Given the description of an element on the screen output the (x, y) to click on. 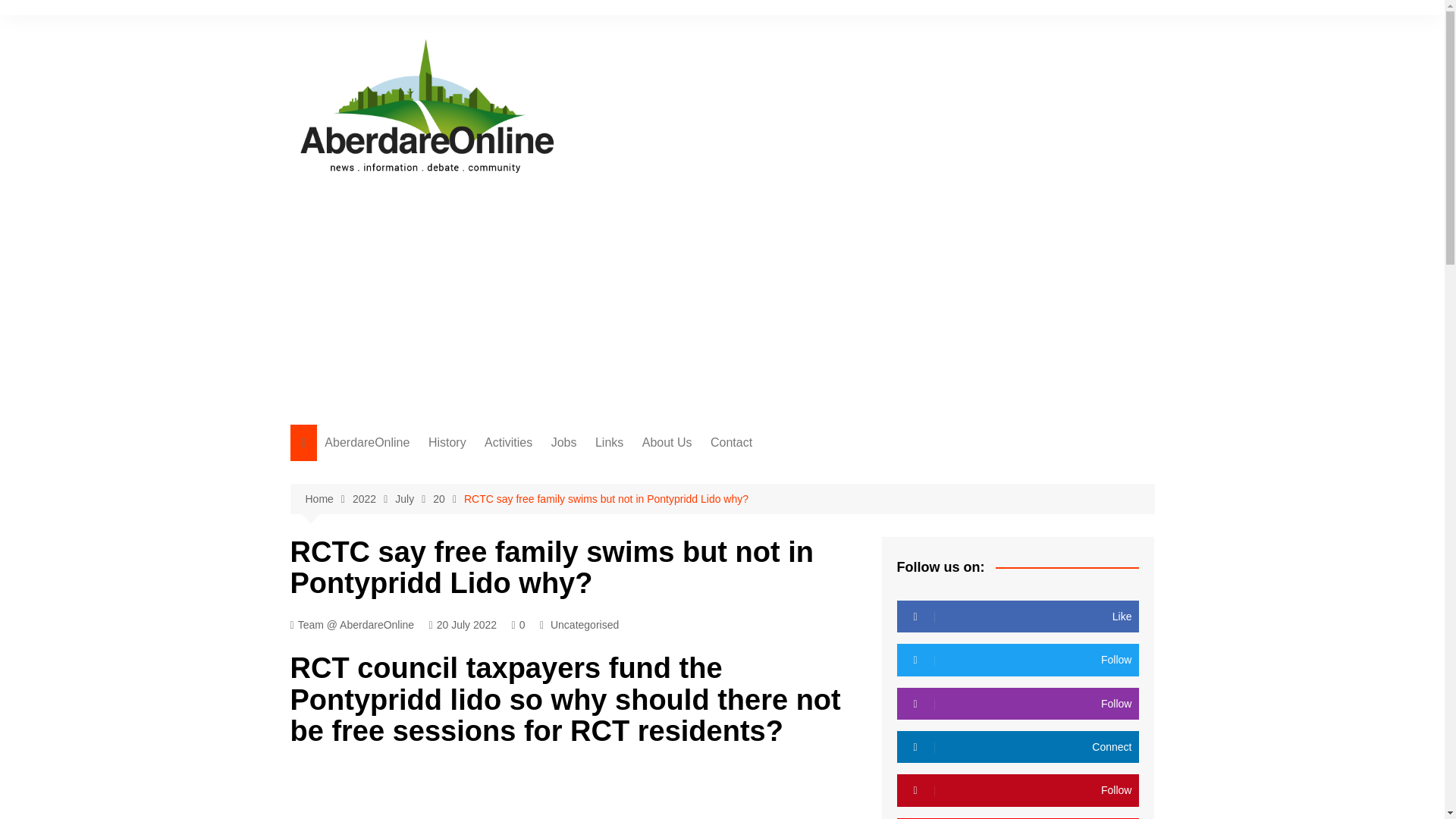
Abercynon: a historical walk (504, 523)
RCTC say free family swims but not in Pontypridd Lido why? (606, 498)
Ancient Cynon Valley (504, 498)
Contact (731, 443)
Old School Photographs (504, 473)
July (413, 498)
Jobs (564, 443)
2022 (373, 498)
20 July 2022 (463, 624)
AberdareOnline (366, 443)
